Given the description of an element on the screen output the (x, y) to click on. 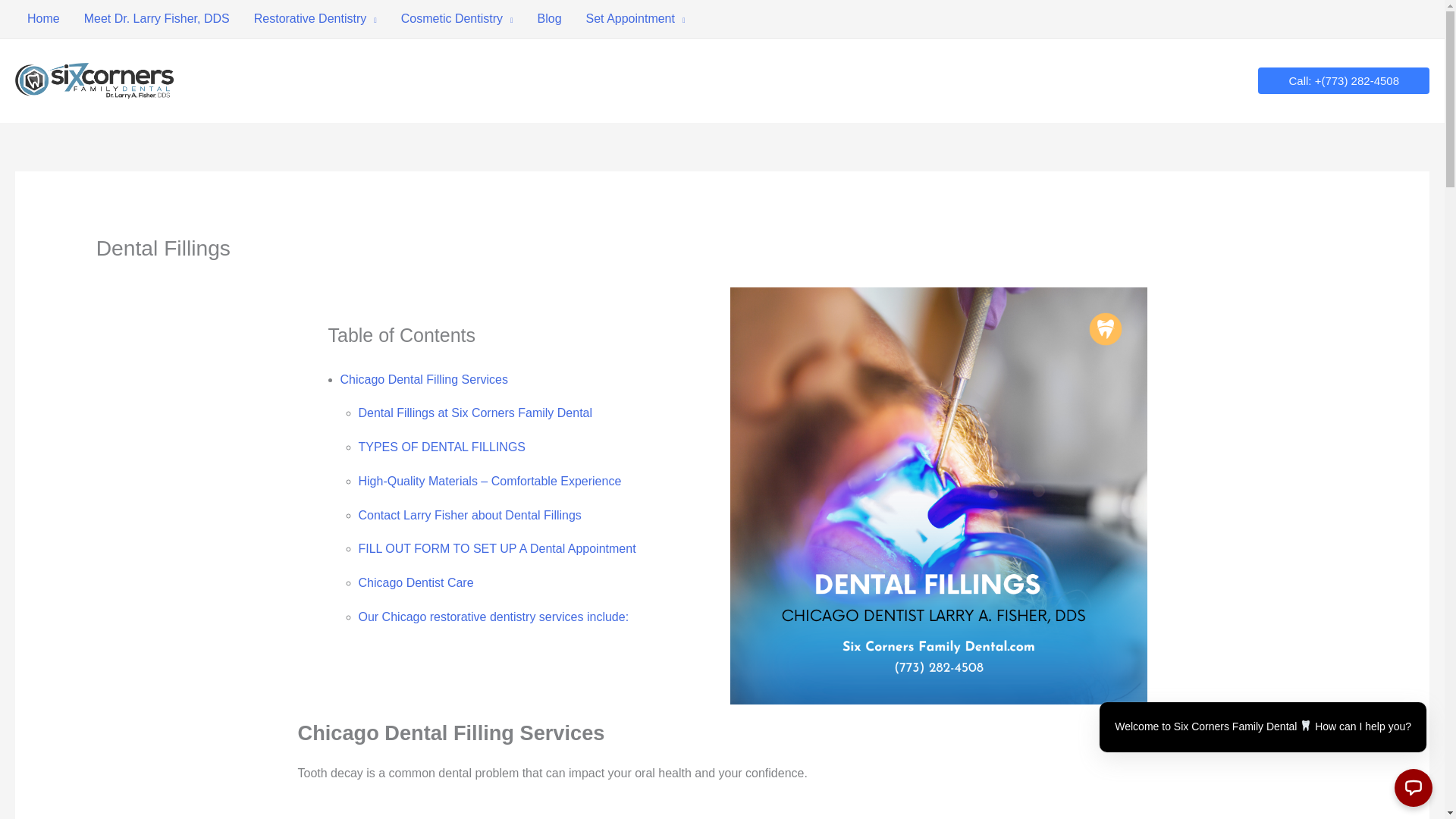
Restorative Dentistry (314, 18)
Meet Dr. Larry Fisher, DDS (156, 18)
Cosmetic Dentistry (456, 18)
Set Appointment (635, 18)
Home (42, 18)
Blog (549, 18)
